Given the description of an element on the screen output the (x, y) to click on. 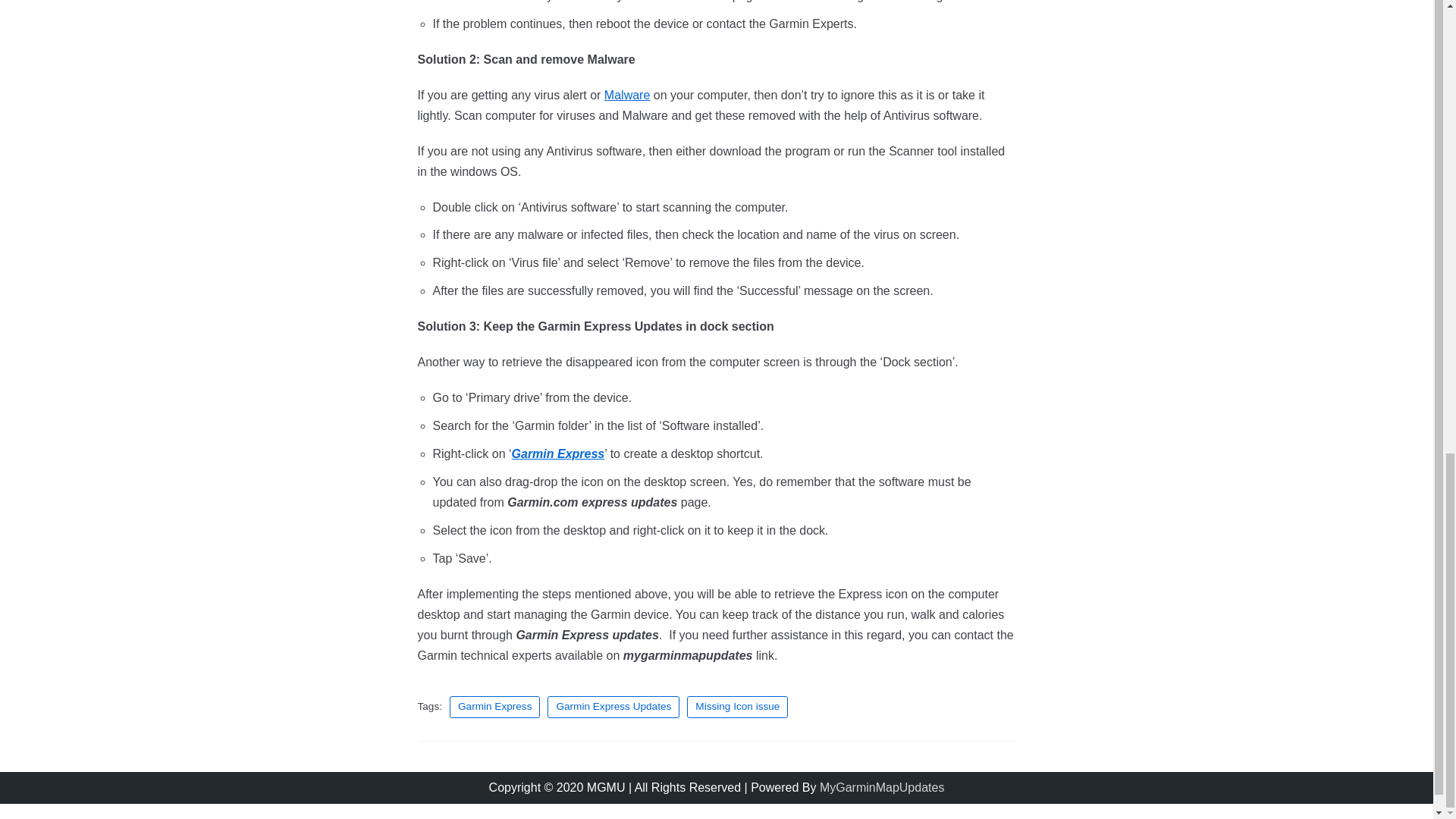
MyGarminMapUpdates (881, 787)
Garmin Express (494, 707)
Missing Icon issue (737, 707)
Malware (626, 94)
Garmin Express Updates (613, 707)
Garmin Express (558, 453)
Missing Icon issue (737, 707)
Garmin Express (494, 707)
Garmin Express Updates (613, 707)
